Given the description of an element on the screen output the (x, y) to click on. 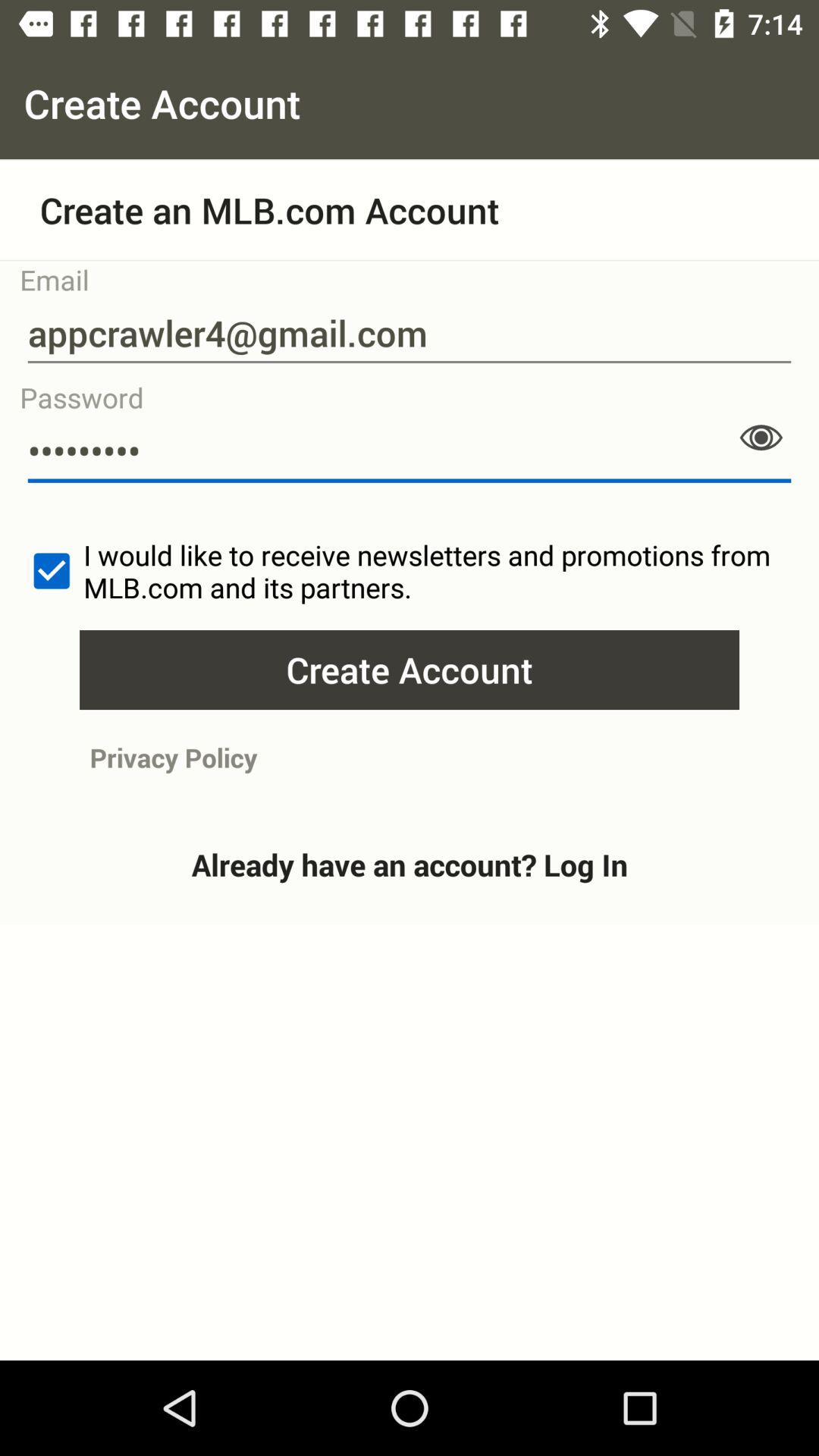
view icon (761, 437)
